Given the description of an element on the screen output the (x, y) to click on. 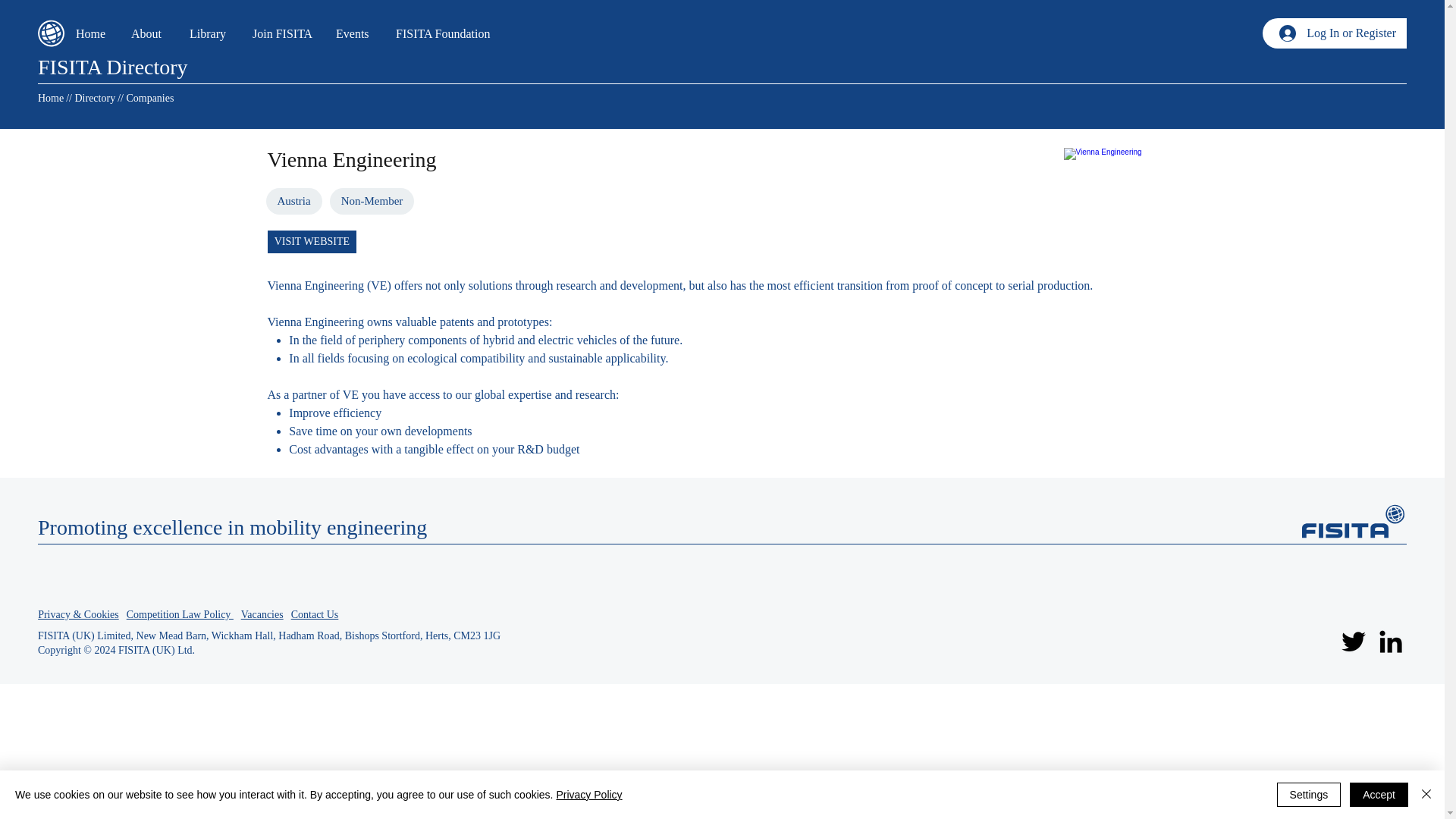
FISITA Foundation (446, 33)
About (148, 33)
Log In or Register (1337, 32)
Library (209, 33)
VISIT WEBSITE (311, 241)
Events (354, 33)
Home (91, 33)
Join FISITA (282, 33)
Home (50, 98)
